Given the description of an element on the screen output the (x, y) to click on. 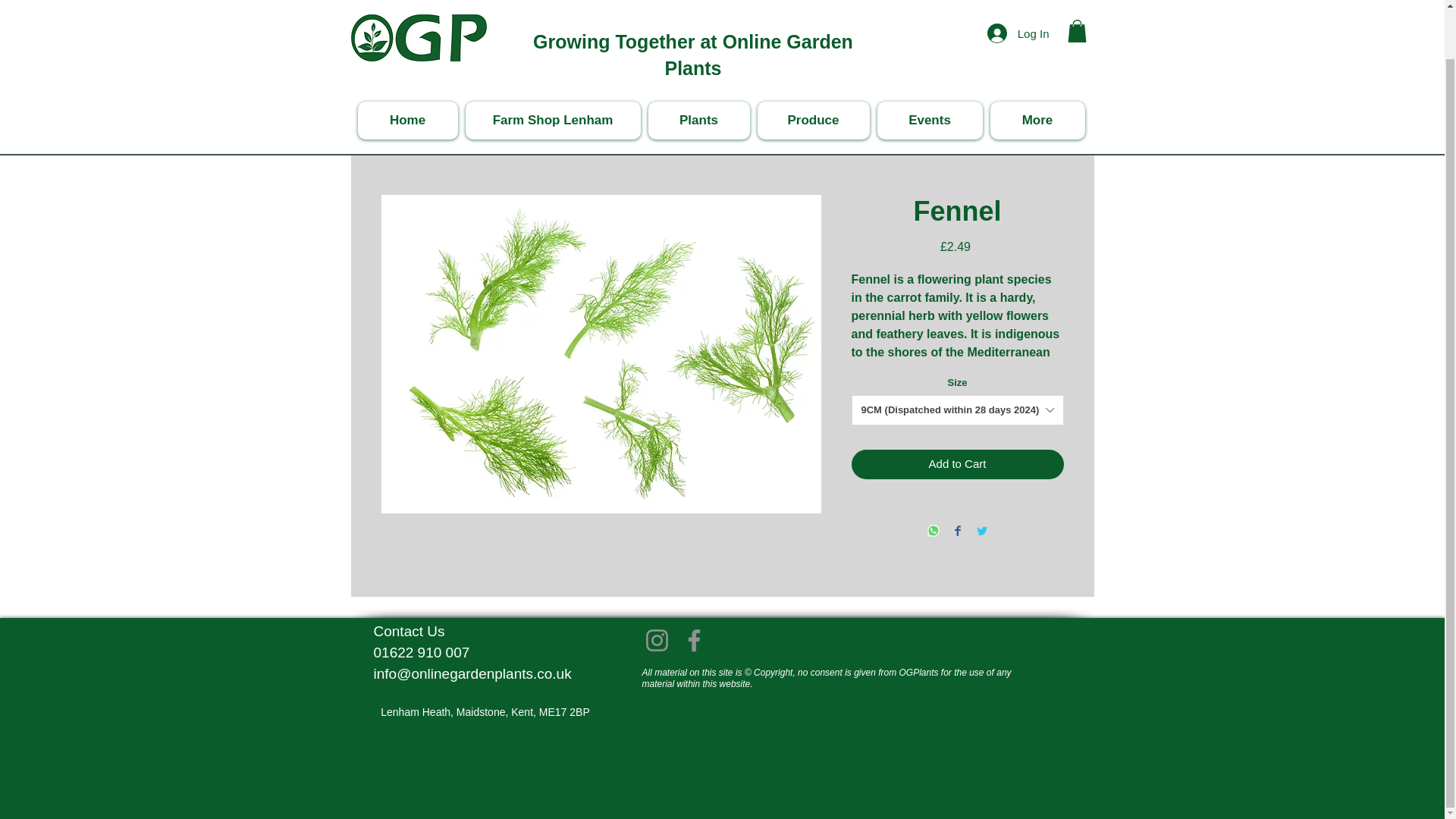
Events (928, 67)
Add to Cart (956, 464)
Farm Shop Lenham (552, 67)
More (1037, 67)
Home (408, 67)
